Given the description of an element on the screen output the (x, y) to click on. 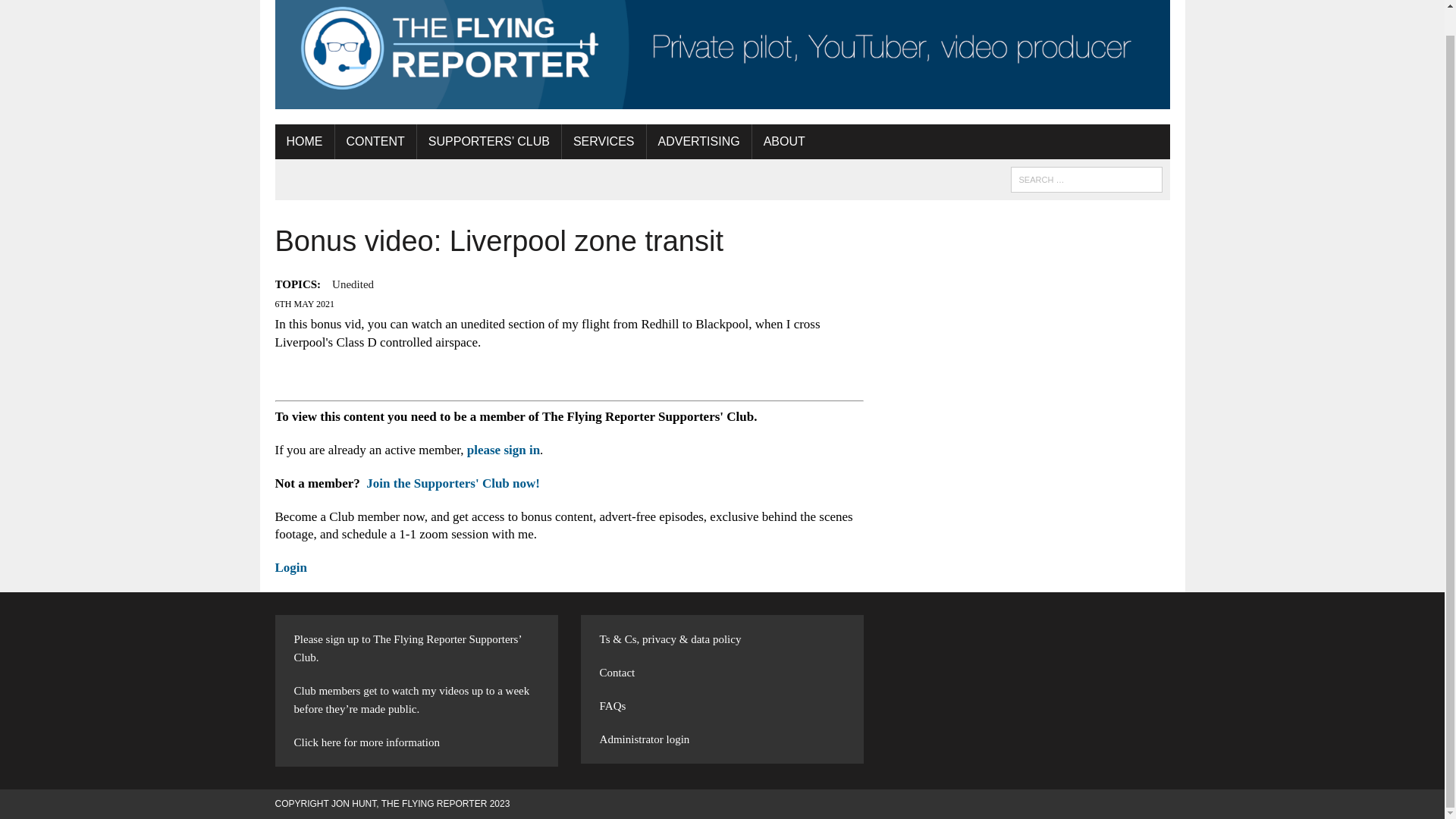
please sign in (503, 450)
FAQs (612, 705)
Jon Hunt, The Flying Reporter (722, 54)
Click here for more information (366, 742)
HOME (304, 141)
ABOUT (784, 141)
Administrator login (644, 739)
Login (291, 567)
Join the Supporters' Club now! (453, 482)
SERVICES (604, 141)
